Given the description of an element on the screen output the (x, y) to click on. 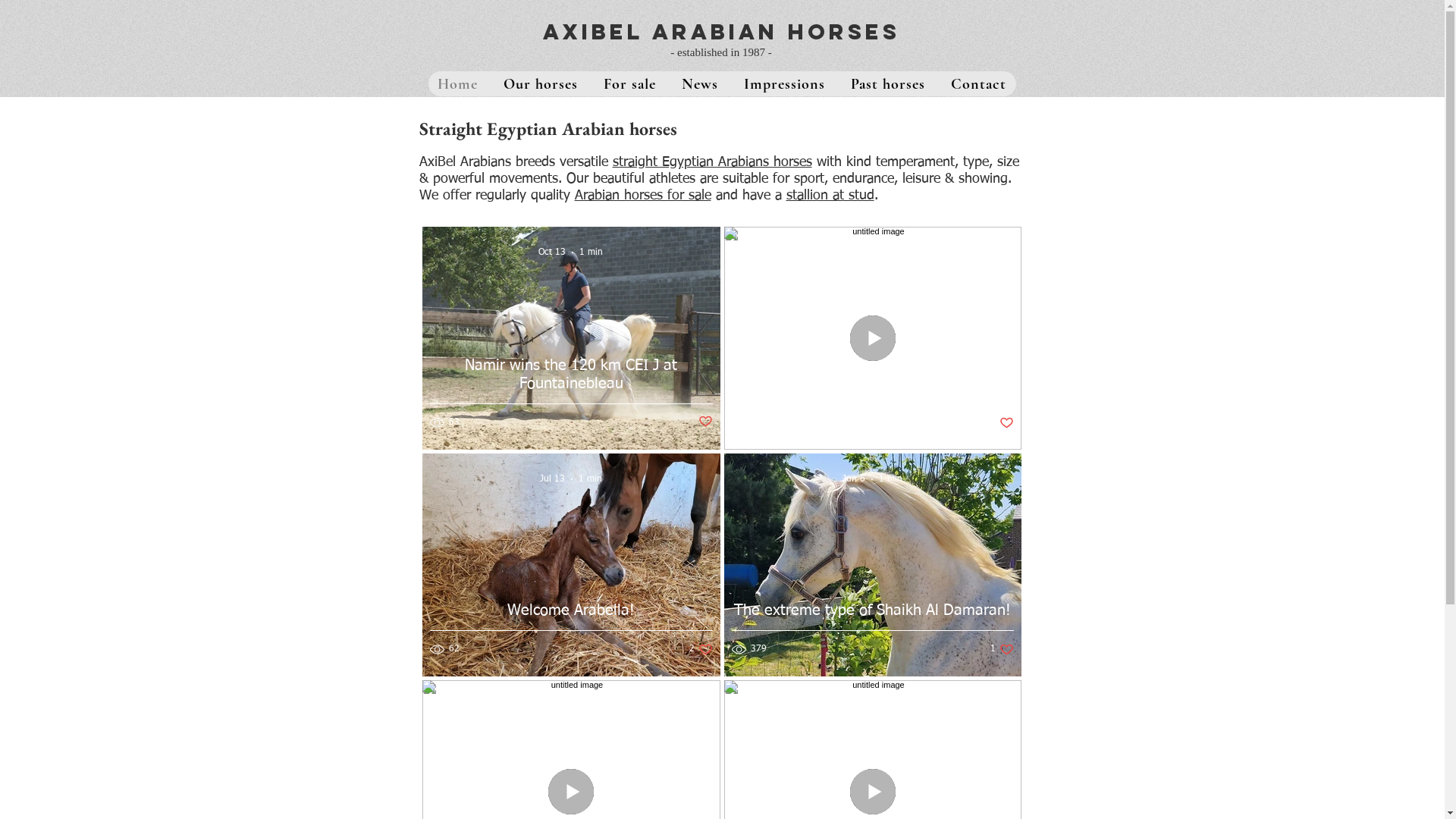
News Element type: text (699, 83)
The extreme type of Shaikh Al Damaran! Element type: text (872, 627)
Contact Element type: text (978, 83)
Welcome Arabella! Element type: text (570, 627)
Past horses Element type: text (887, 83)
For sale Element type: text (629, 83)
1 like. Post not marked as liked
1 Element type: text (1001, 422)
stallion at stud Element type: text (829, 195)
straight Egyptian Arabians horses Element type: text (712, 162)
Home Element type: text (457, 83)
Impressions Element type: text (784, 83)
1 like. Post not marked as liked
1 Element type: text (1001, 648)
2 likes. Post not marked as liked
2 Element type: text (700, 648)
Namir wins the 120 km CEI J at Fountainebleau Element type: text (570, 392)
Arabian horses for sale Element type: text (642, 195)
Our horses Element type: text (540, 83)
Post not marked as liked Element type: text (704, 422)
New video of KP Aleem as a yearling Element type: text (872, 401)
